Given the description of an element on the screen output the (x, y) to click on. 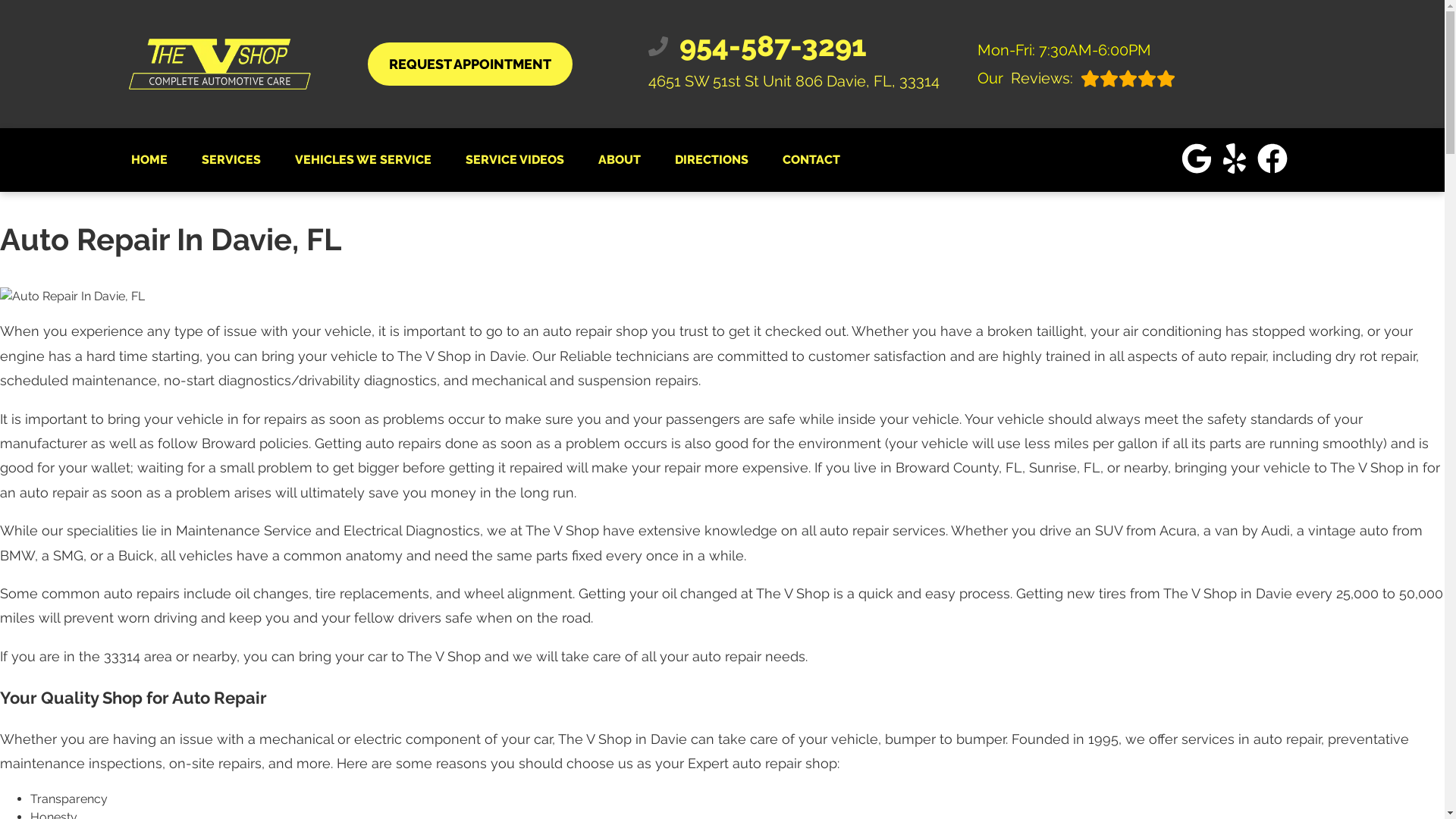
Home (149, 159)
Our Reviews (1075, 77)
HOME (149, 159)
Call The V Shop (1075, 77)
SERVICES (793, 45)
Services (231, 159)
954-587-3291 (231, 159)
4651 SW 51st St Unit 806 Davie, FL, 33314 (793, 45)
Make an Appointment (793, 80)
REQUEST APPOINTMENT (469, 63)
The V Shop (469, 63)
